Given the description of an element on the screen output the (x, y) to click on. 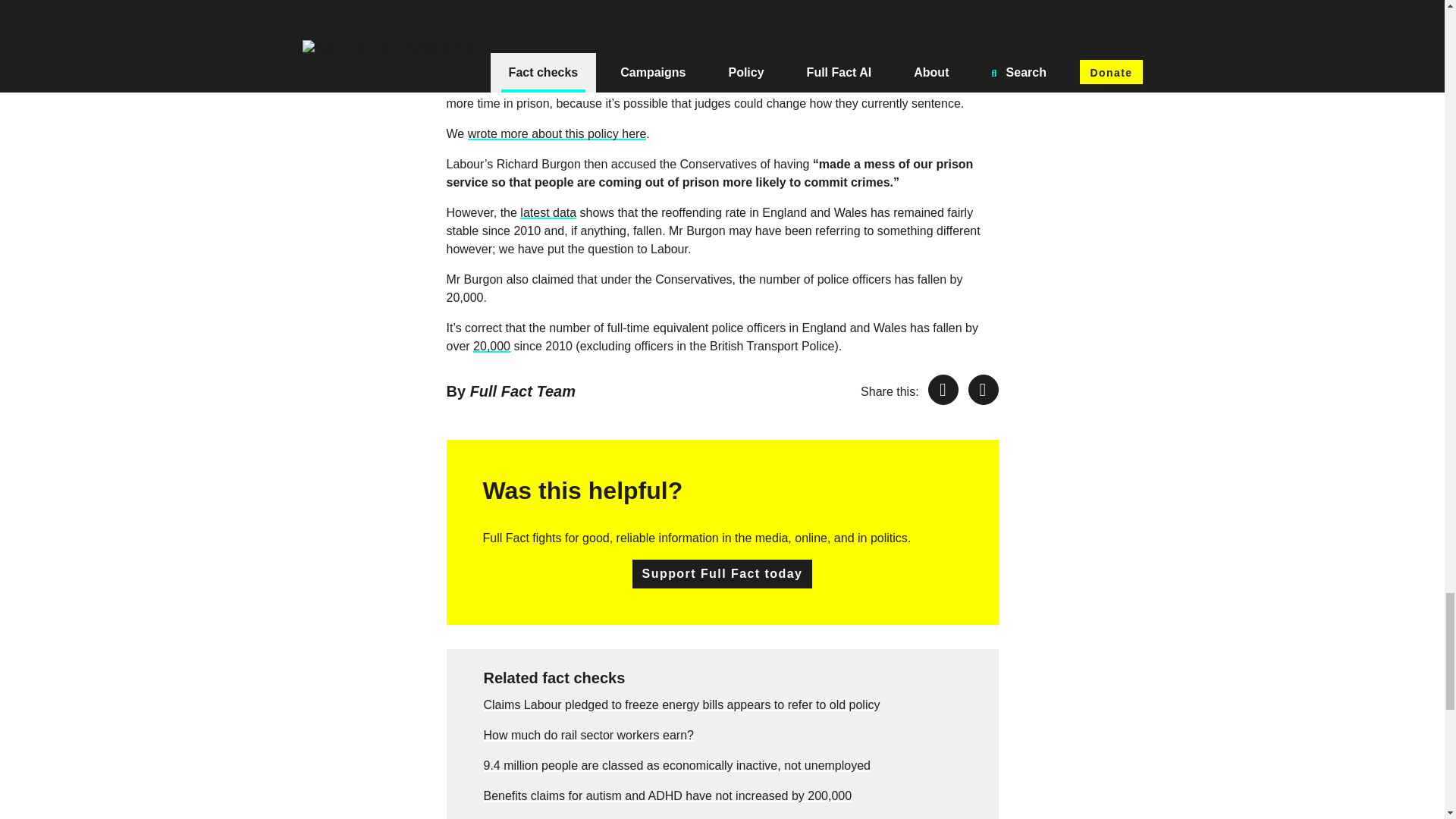
How much do rail sector workers earn? (588, 735)
